Given the description of an element on the screen output the (x, y) to click on. 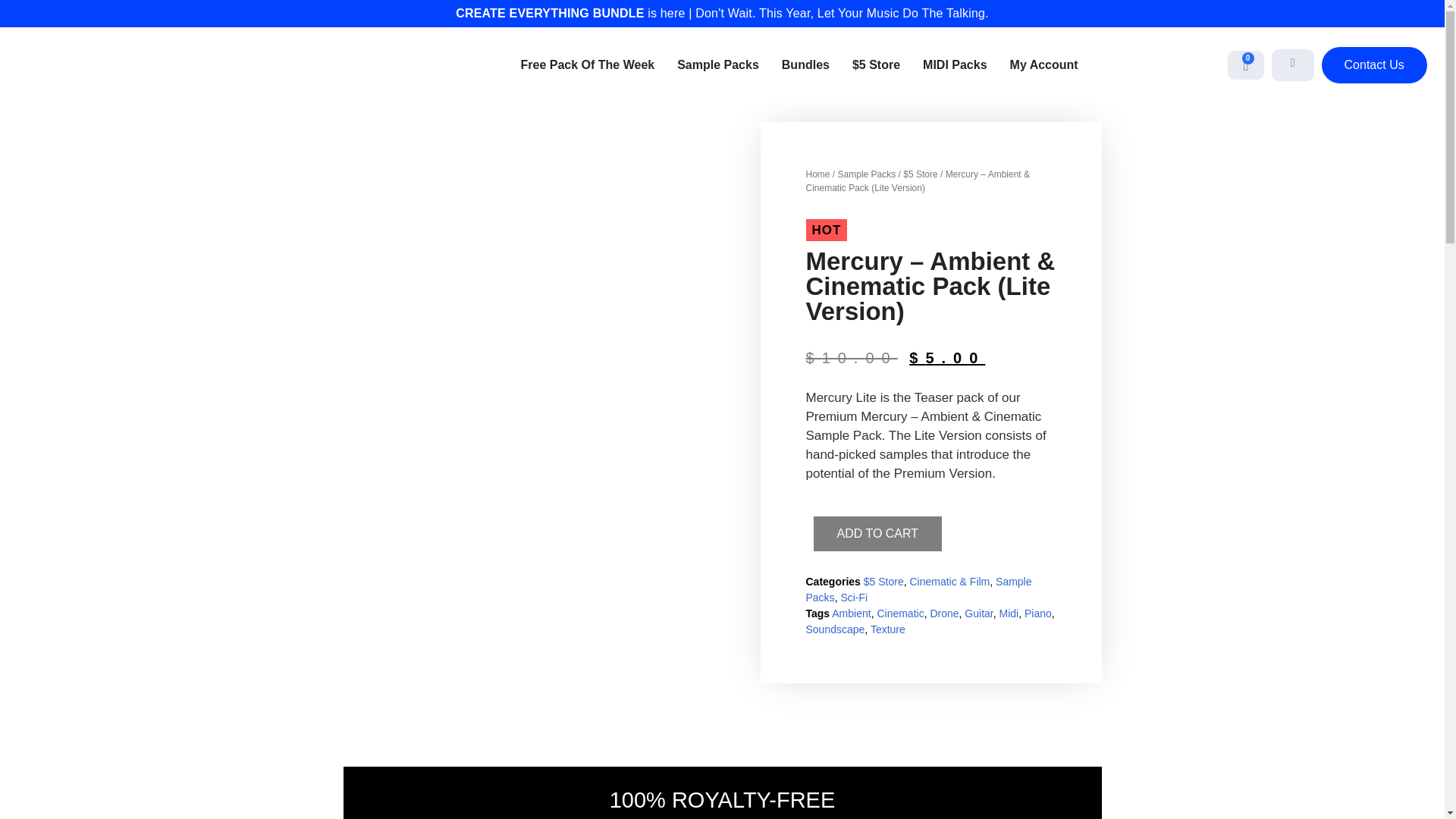
Piano (1038, 613)
Soundscape (834, 629)
MIDI Packs (955, 65)
ADD TO CART (877, 533)
Free Pack Of The Week (588, 65)
Texture (887, 629)
Bundles (805, 65)
Ambient (850, 613)
Home (817, 173)
Midi (1008, 613)
